Given the description of an element on the screen output the (x, y) to click on. 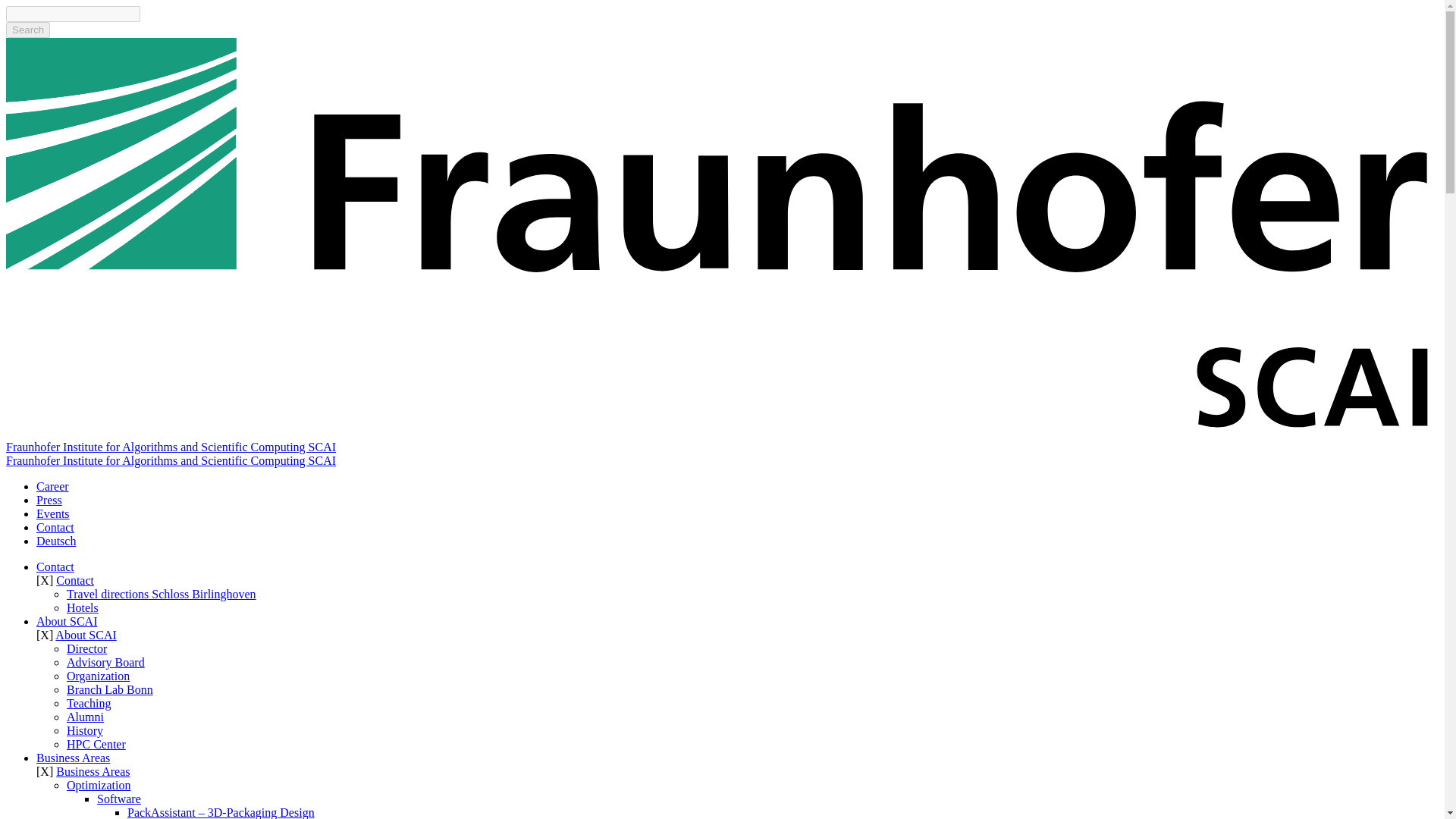
Contact (55, 526)
Deutsch (55, 540)
About SCAI (66, 621)
Press (49, 499)
HPC Center (95, 744)
Hotels (82, 607)
Alumni (84, 716)
Events (52, 513)
Organization (97, 675)
